Given the description of an element on the screen output the (x, y) to click on. 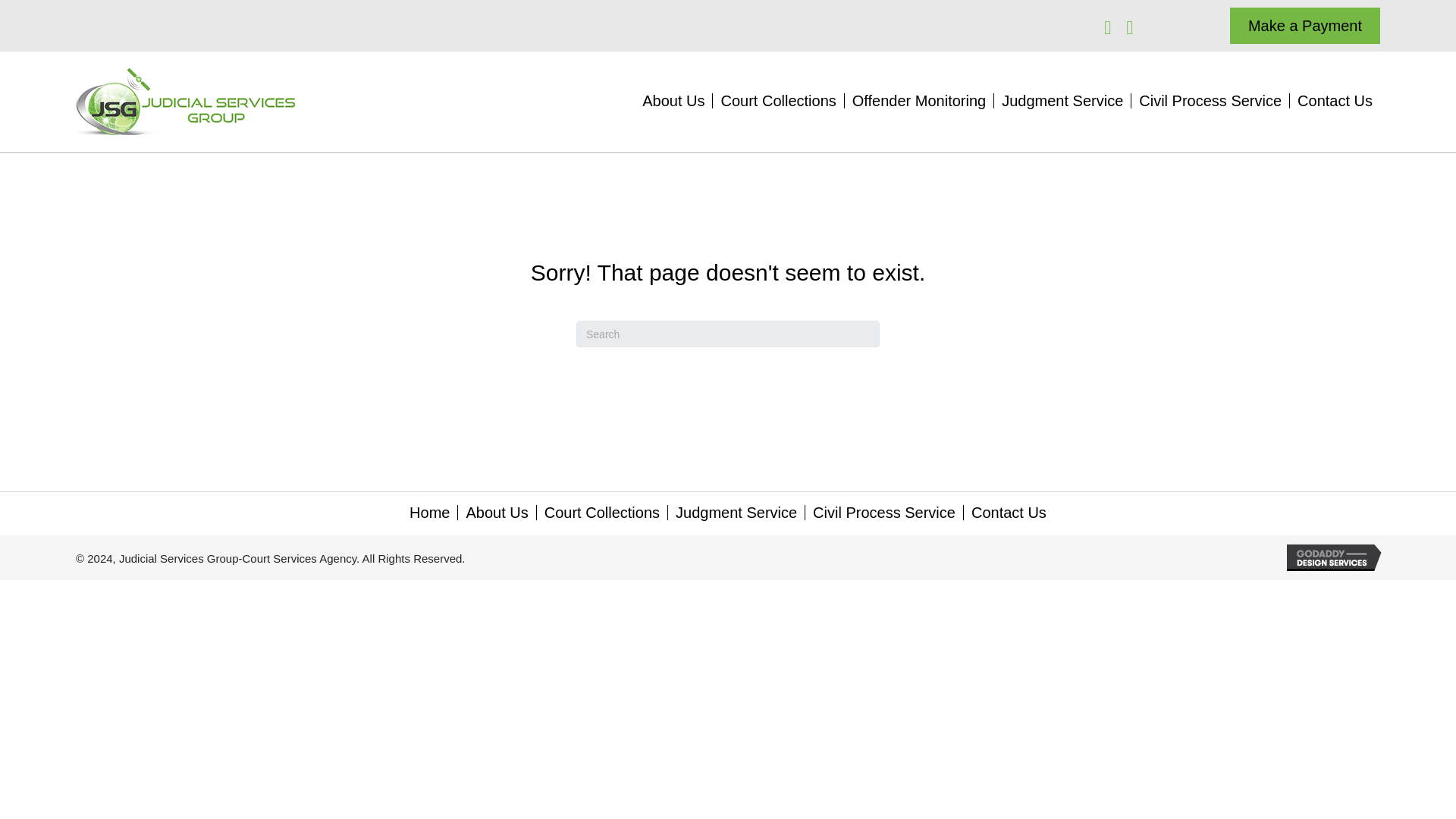
Judicial Services Group (186, 101)
Contact Us (1008, 512)
Judgment Service (736, 512)
Civil Process Service (883, 512)
Court Collections (601, 512)
Court Collections (778, 100)
Home (429, 512)
Contact Us (1335, 100)
About Us (672, 100)
Type and press Enter to search. (727, 334)
Civil Process Service (1209, 100)
About Us (496, 512)
Make a Payment (1305, 25)
Judgment Service (1062, 100)
Offender Monitoring (918, 100)
